Given the description of an element on the screen output the (x, y) to click on. 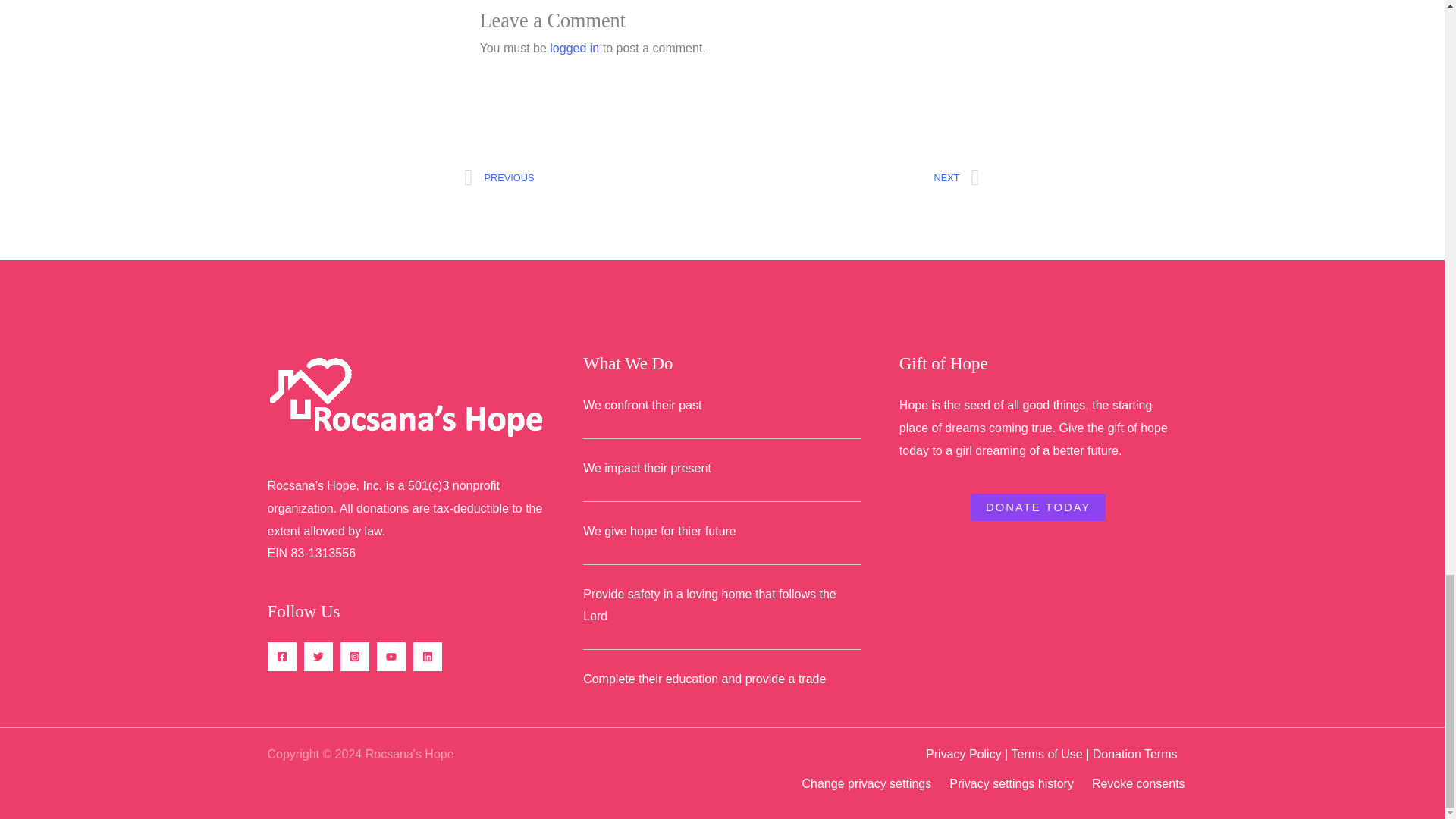
Privacy settings history (593, 178)
Terms of Use (1011, 783)
Revoke consents (850, 178)
DONATE TODAY (1045, 753)
Change privacy settings (1138, 783)
Privacy Policy (1038, 506)
Donation Terms (866, 783)
logged in (963, 753)
